Given the description of an element on the screen output the (x, y) to click on. 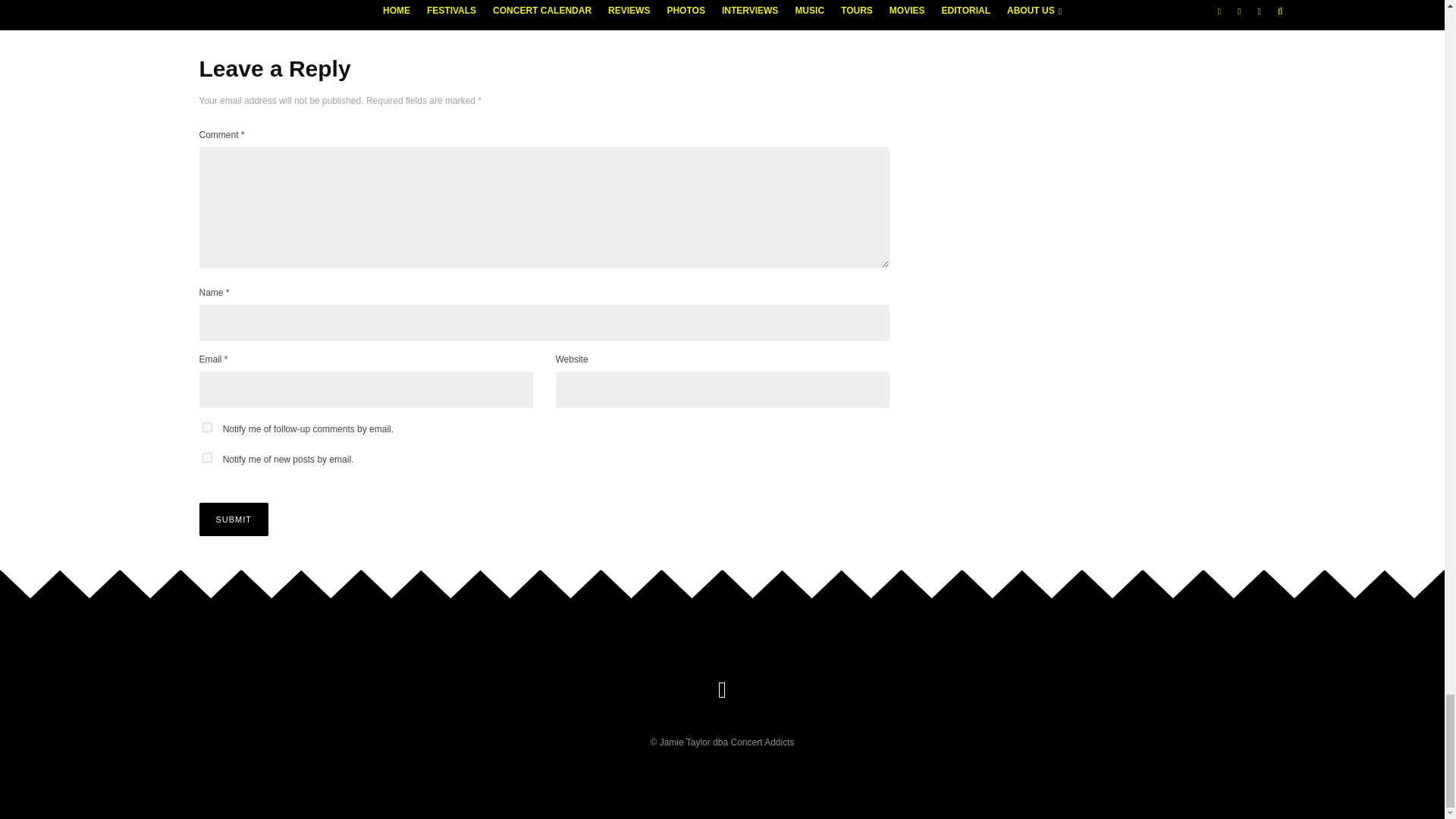
subscribe (206, 457)
subscribe (206, 427)
Submit (232, 519)
